Given the description of an element on the screen output the (x, y) to click on. 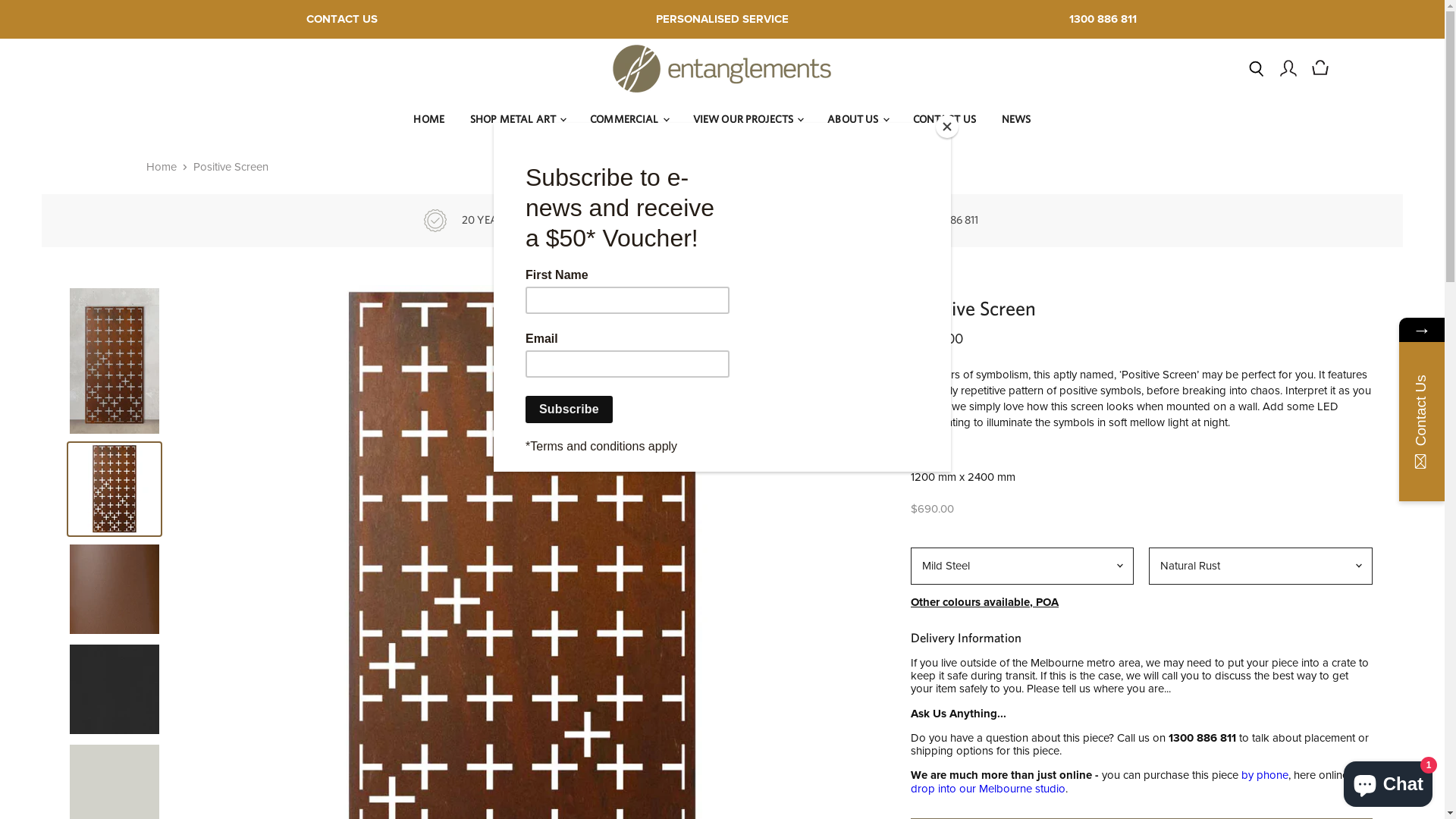
X Element type: text (1403, 337)
COMMERCIAL Element type: text (628, 118)
Home Element type: text (160, 166)
View account Element type: text (1288, 67)
CONTACT US Element type: text (341, 19)
CONTACT US Element type: text (943, 118)
NEWS Element type: text (1016, 118)
Shopify online store chat Element type: hover (1388, 780)
ABOUT US Element type: text (856, 118)
by phone Element type: text (1264, 774)
Other colours available, POA Element type: text (984, 602)
PERSONALISED SERVICE Element type: text (721, 19)
VIEW OUR PROJECTS Element type: text (747, 118)
HOME Element type: text (428, 118)
SHOP METAL ART Element type: text (516, 118)
Search Element type: text (1256, 67)
1300 886 811 Element type: text (1102, 19)
drop into our Melbourne studio Element type: text (987, 788)
